Given the description of an element on the screen output the (x, y) to click on. 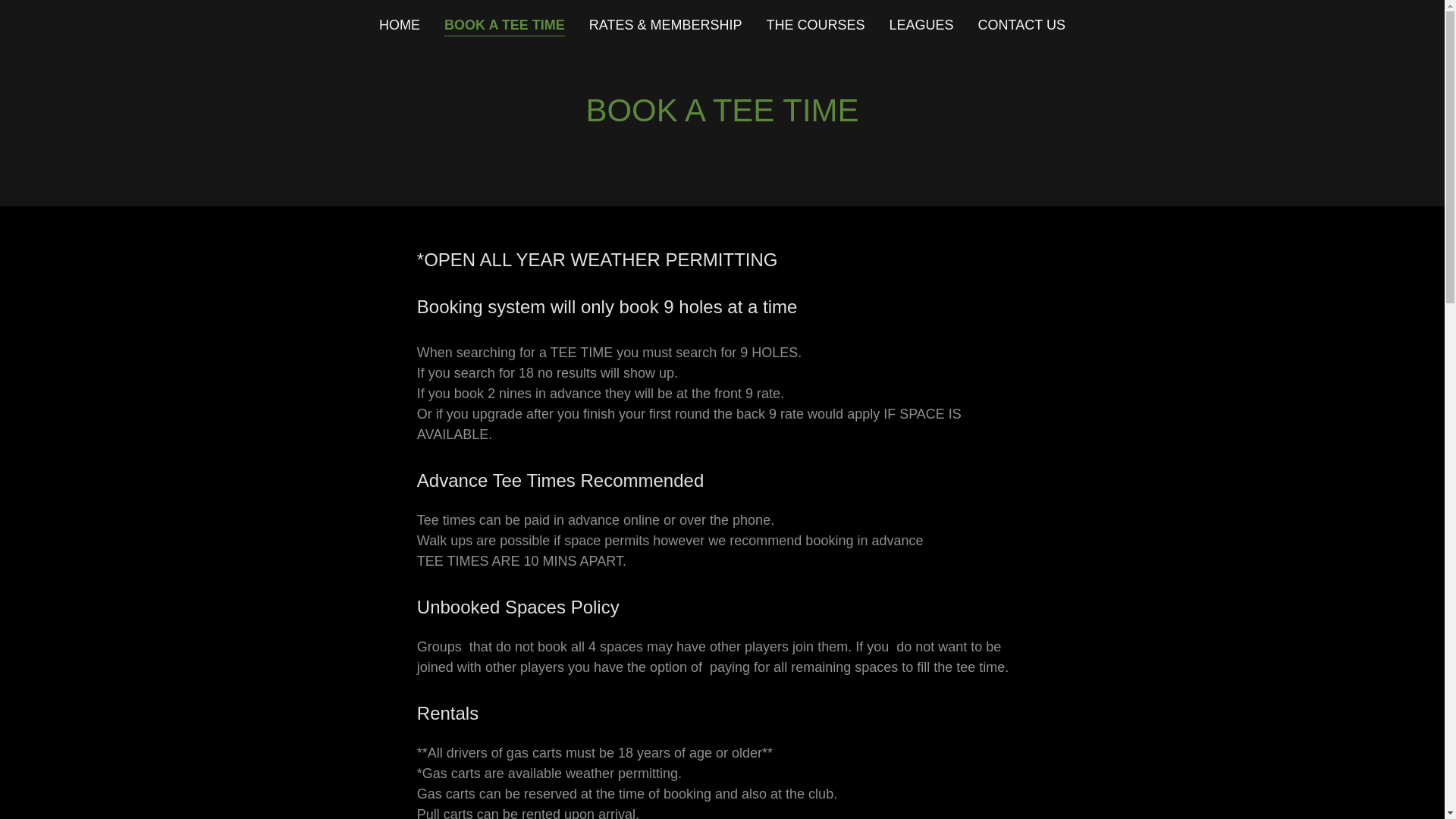
THE COURSES (815, 24)
CONTACT US (1022, 24)
LEAGUES (920, 24)
BOOK A TEE TIME (504, 25)
HOME (399, 24)
